Given the description of an element on the screen output the (x, y) to click on. 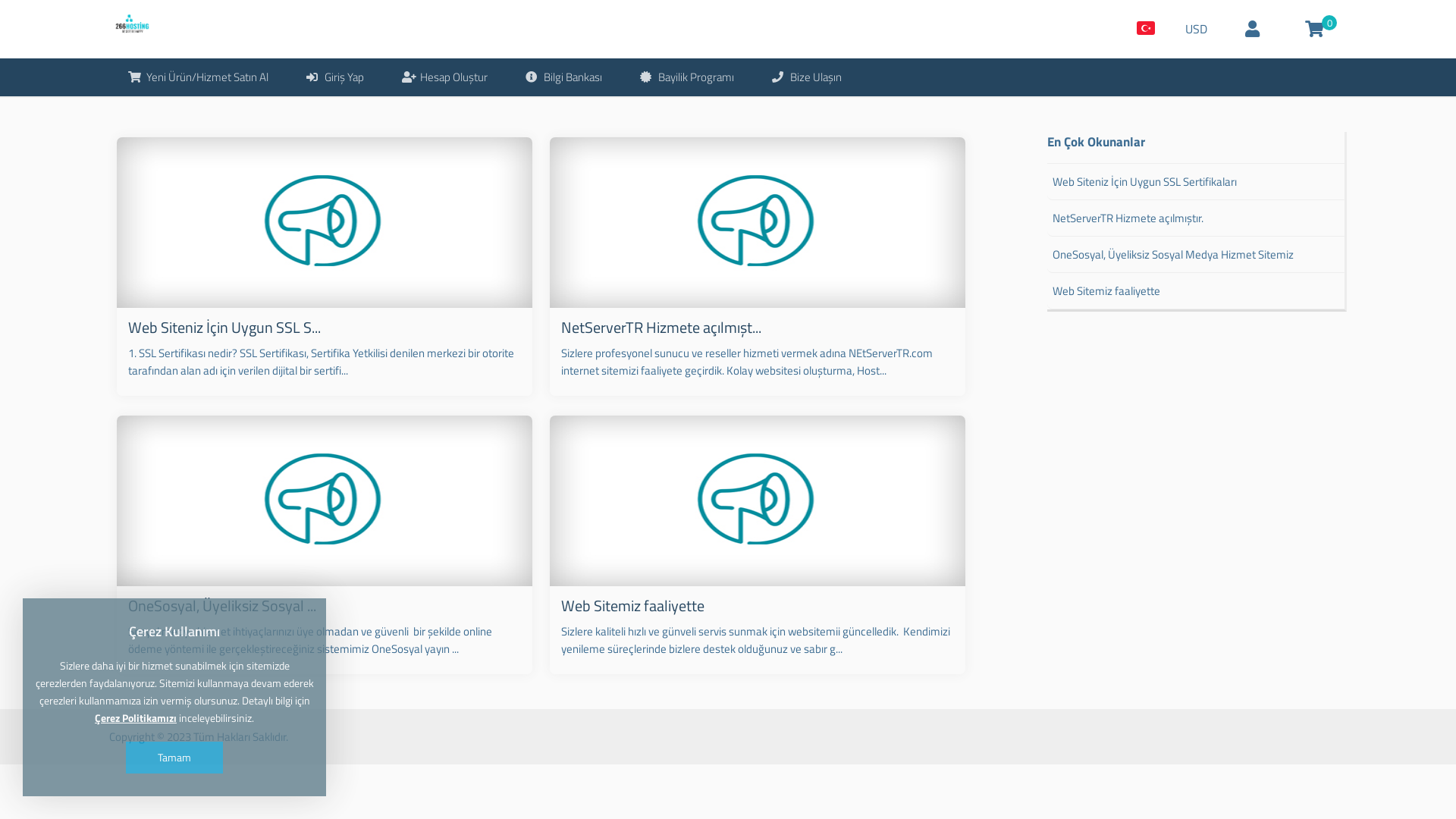
Web Sitemiz faaliyette Element type: text (1195, 291)
USD Element type: text (1196, 29)
0 Element type: text (1314, 29)
Web Sitemiz faaliyette Element type: text (632, 605)
Logo Element type: hover (129, 26)
Tamam Element type: text (173, 757)
